Given the description of an element on the screen output the (x, y) to click on. 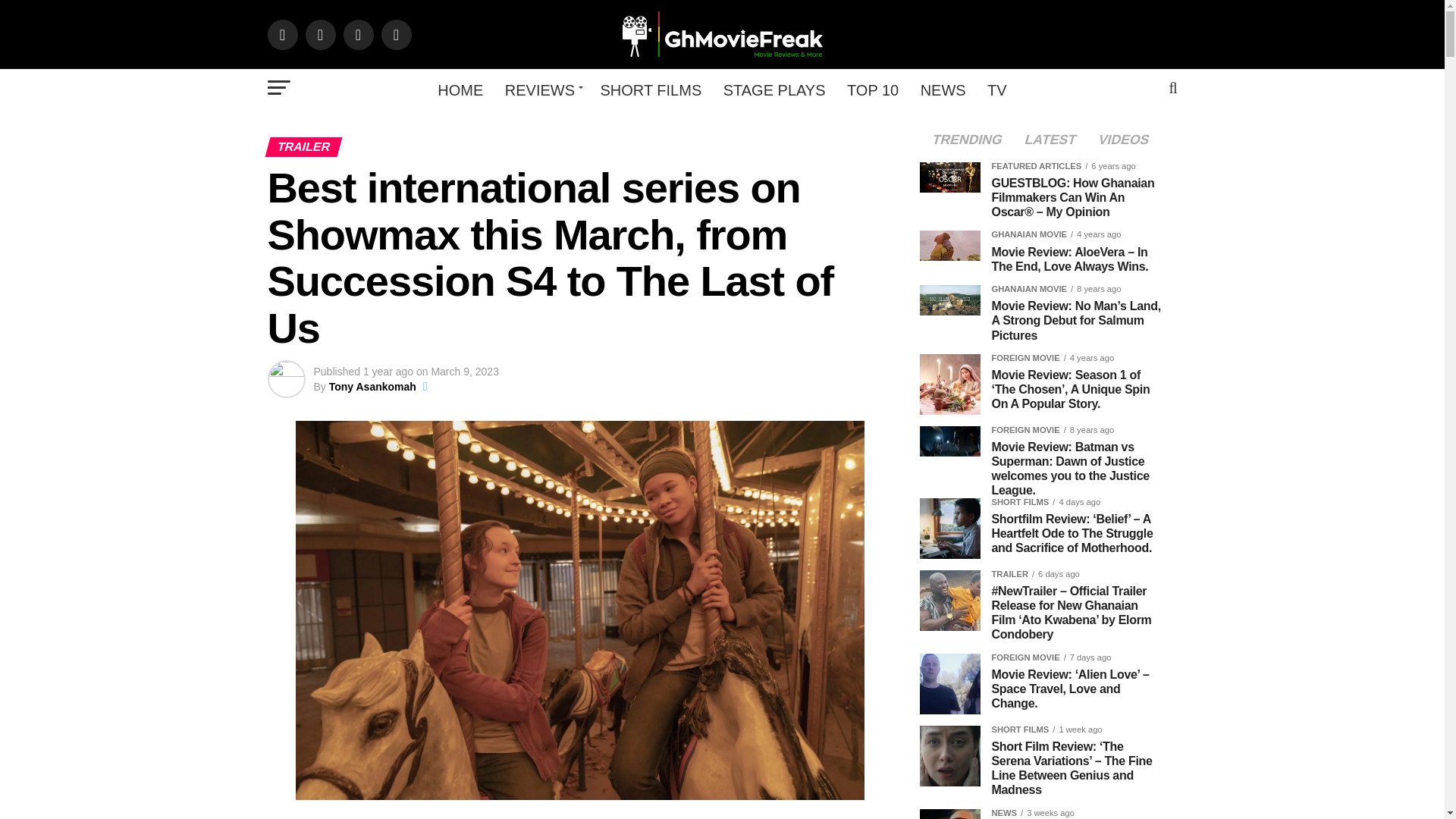
STAGE PLAYS (774, 89)
TOP 10 (872, 89)
NEWS (943, 89)
TV (997, 89)
HOME (460, 89)
REVIEWS (542, 89)
SHORT FILMS (650, 89)
